Given the description of an element on the screen output the (x, y) to click on. 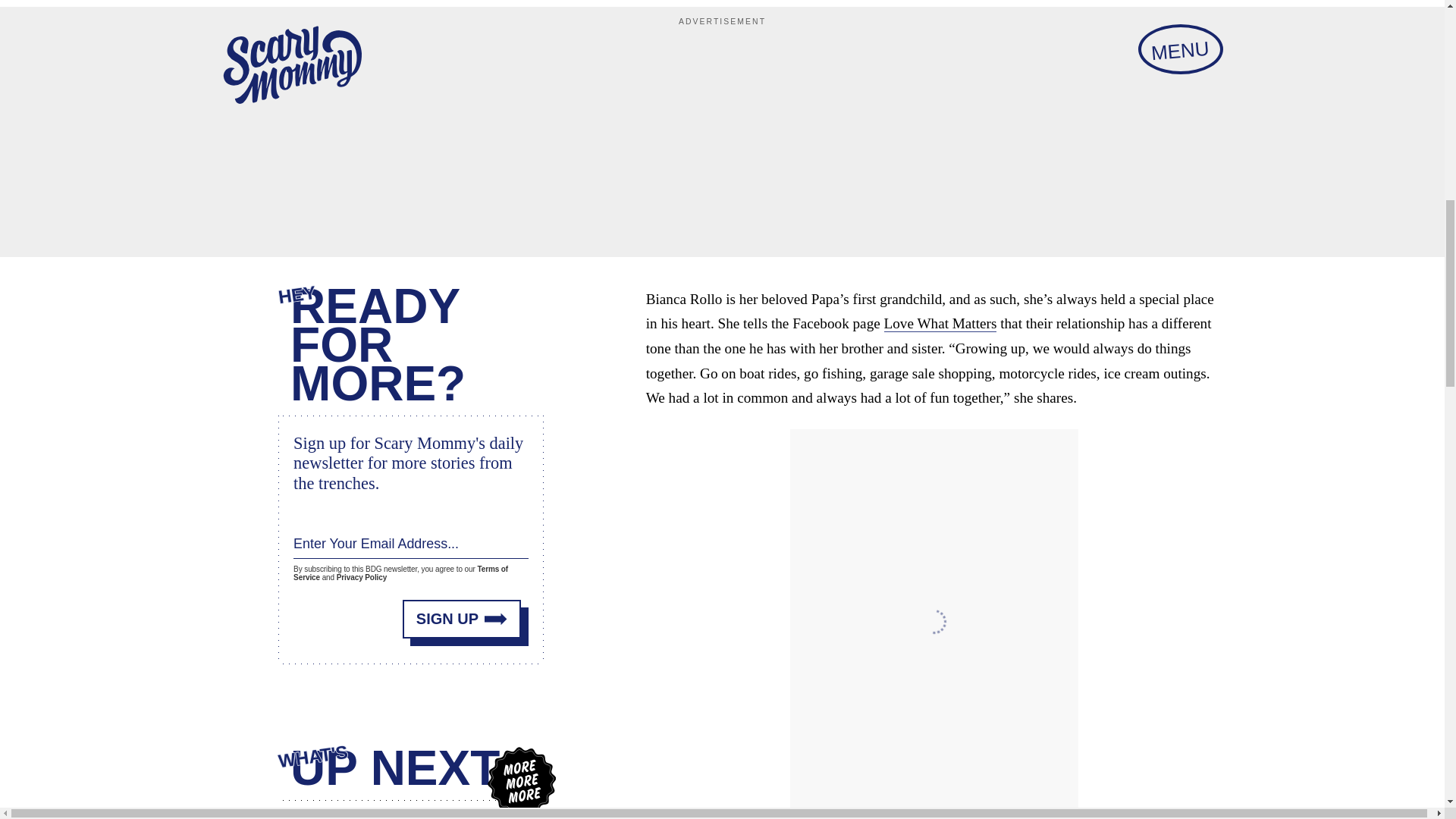
SIGN UP (462, 616)
Terms of Service (401, 571)
Privacy Policy (361, 576)
Love What Matters (940, 323)
